Given the description of an element on the screen output the (x, y) to click on. 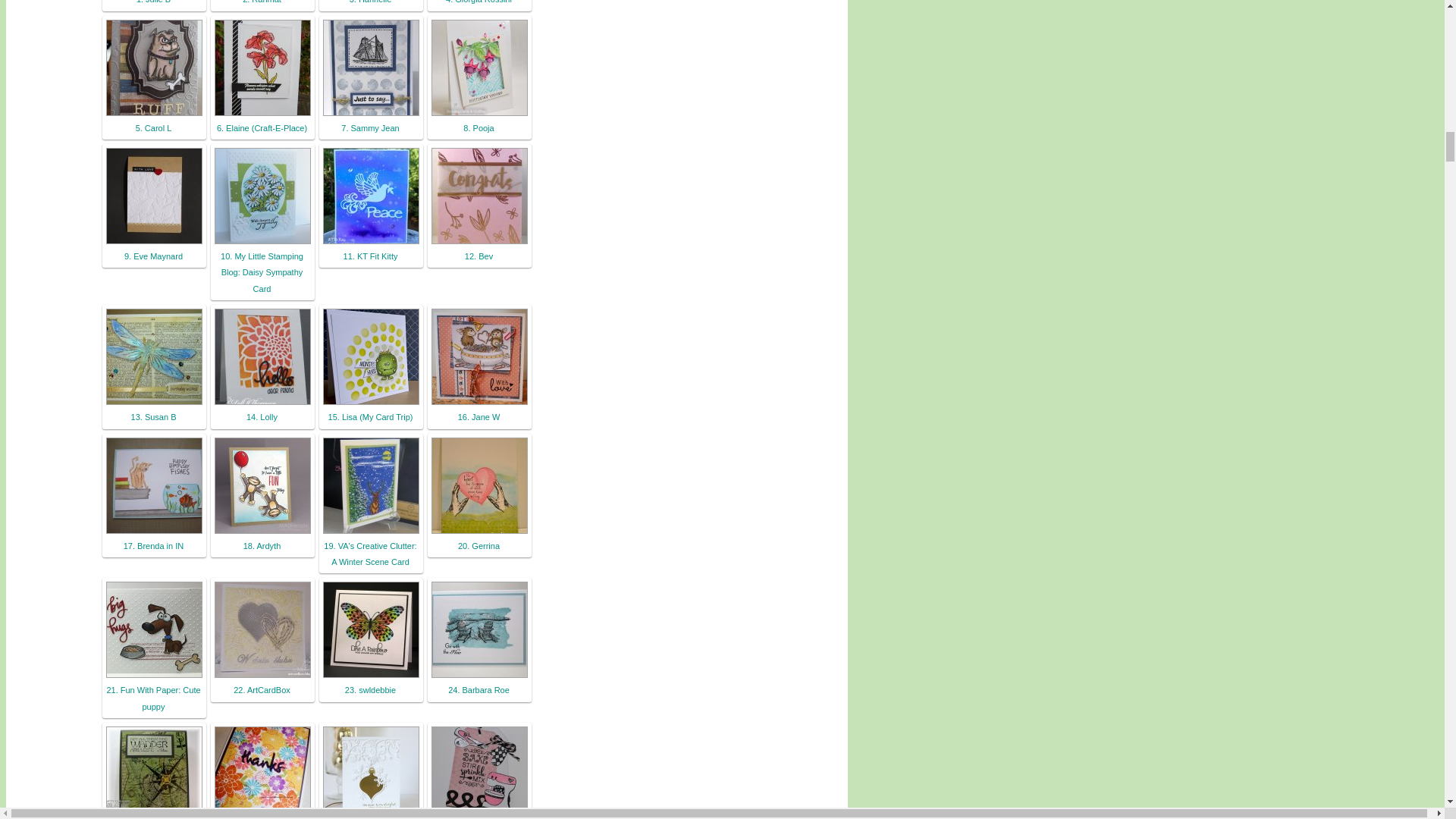
3. Hannelie (370, 2)
1. Julie B (153, 2)
4. Giorgia Rossini (478, 2)
2. Rahmat (262, 2)
